Given the description of an element on the screen output the (x, y) to click on. 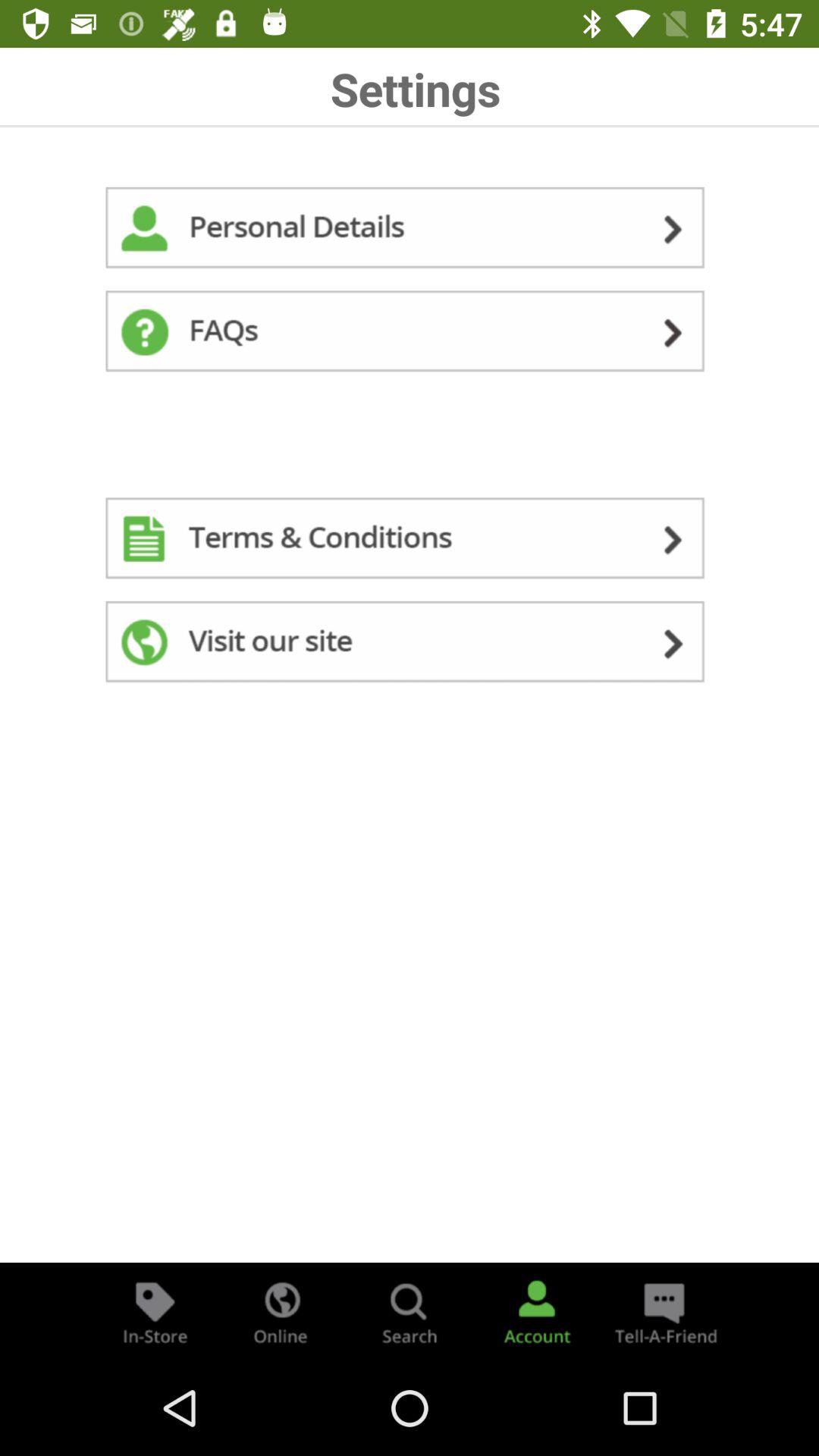
open account (536, 1311)
